Given the description of an element on the screen output the (x, y) to click on. 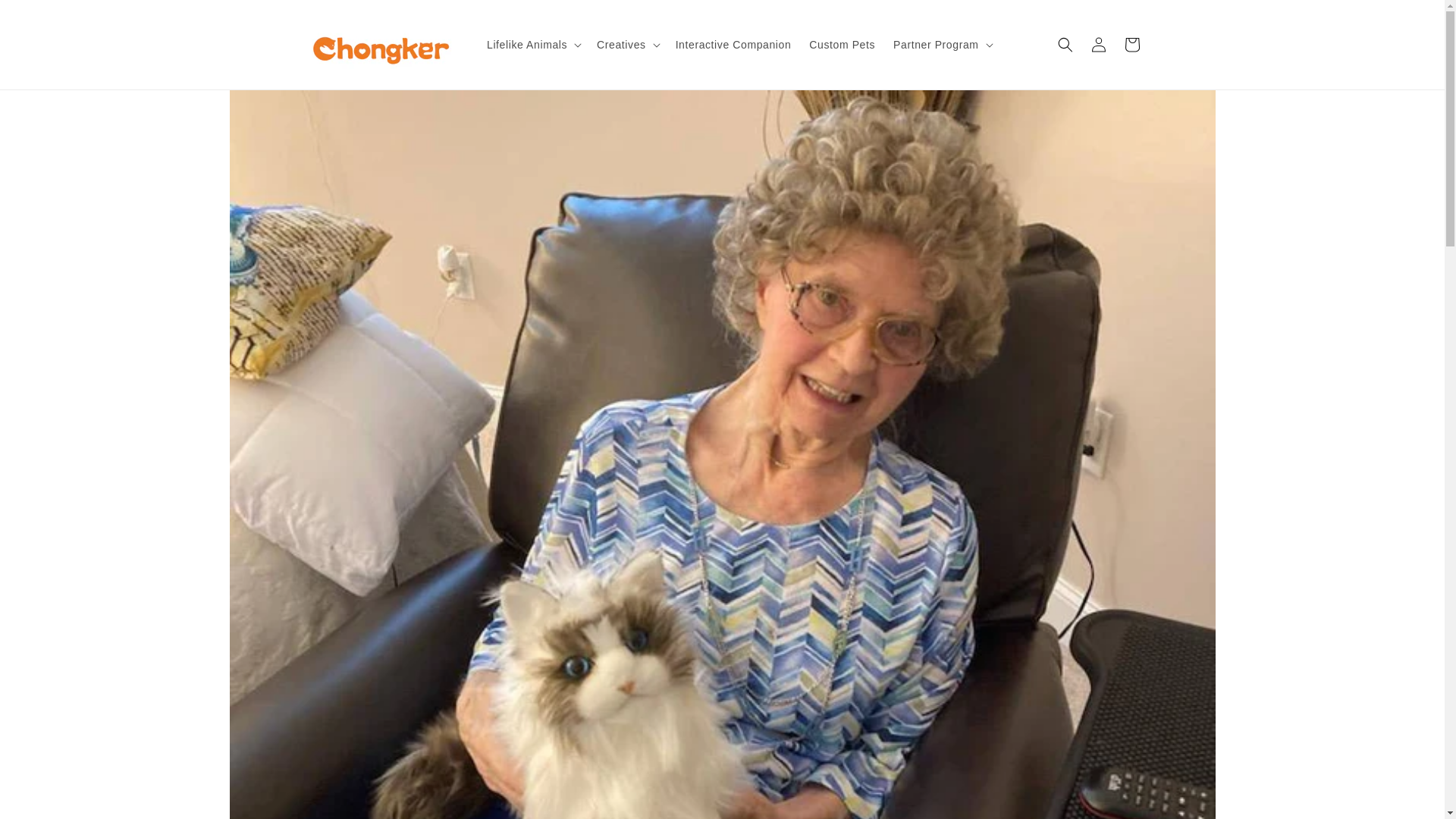
Cart (1131, 44)
Skip to content (45, 17)
Log in (1098, 44)
Custom Pets (841, 44)
Interactive Companion (733, 44)
